Given the description of an element on the screen output the (x, y) to click on. 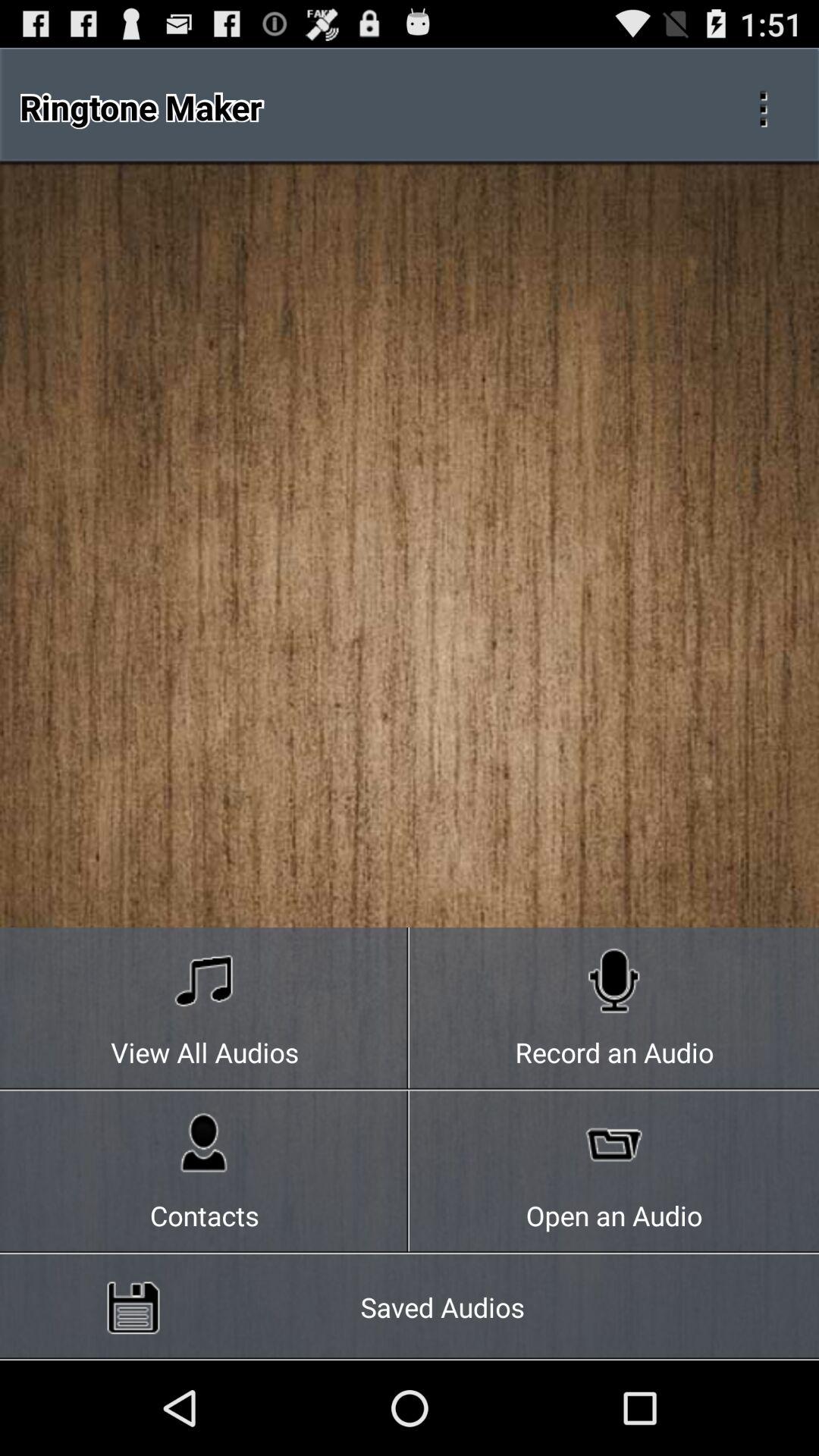
click the icon at the top right corner (762, 107)
